Given the description of an element on the screen output the (x, y) to click on. 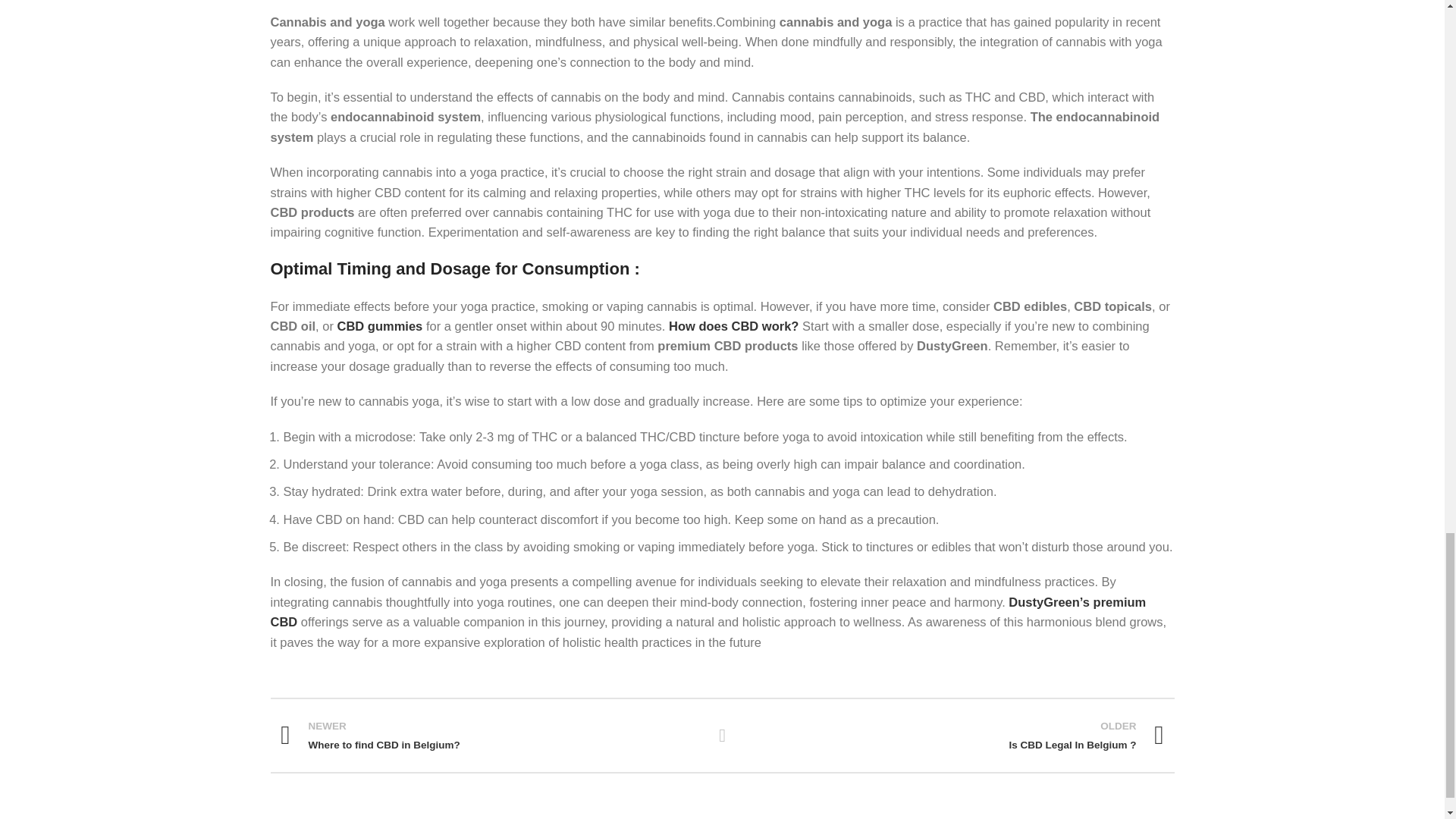
Back to list (489, 735)
How does CBD work? (722, 734)
CBD gummies (732, 325)
